Given the description of an element on the screen output the (x, y) to click on. 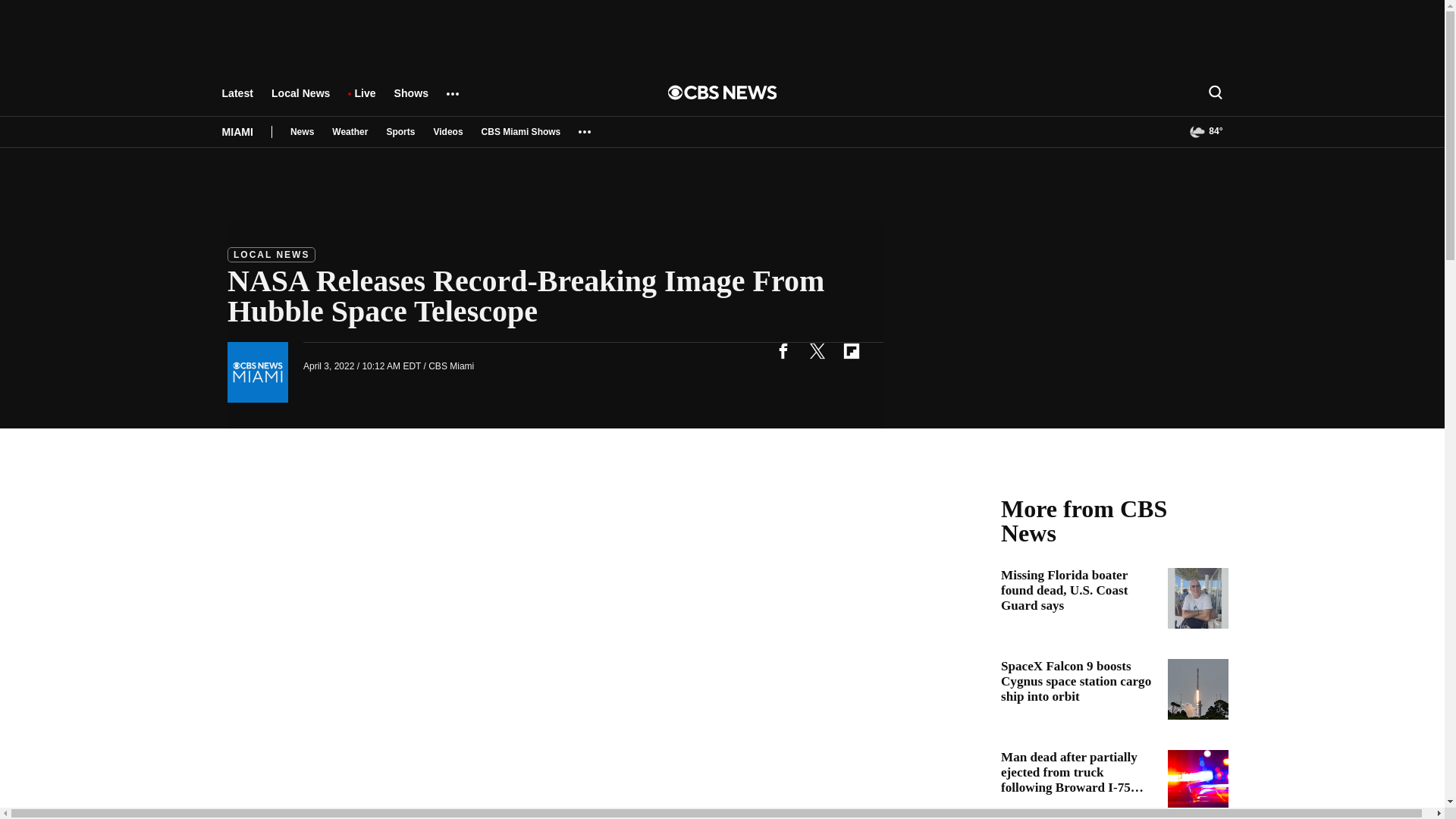
Latest (236, 100)
facebook (782, 350)
twitter (816, 350)
flipboard (850, 350)
Local News (300, 100)
